Given the description of an element on the screen output the (x, y) to click on. 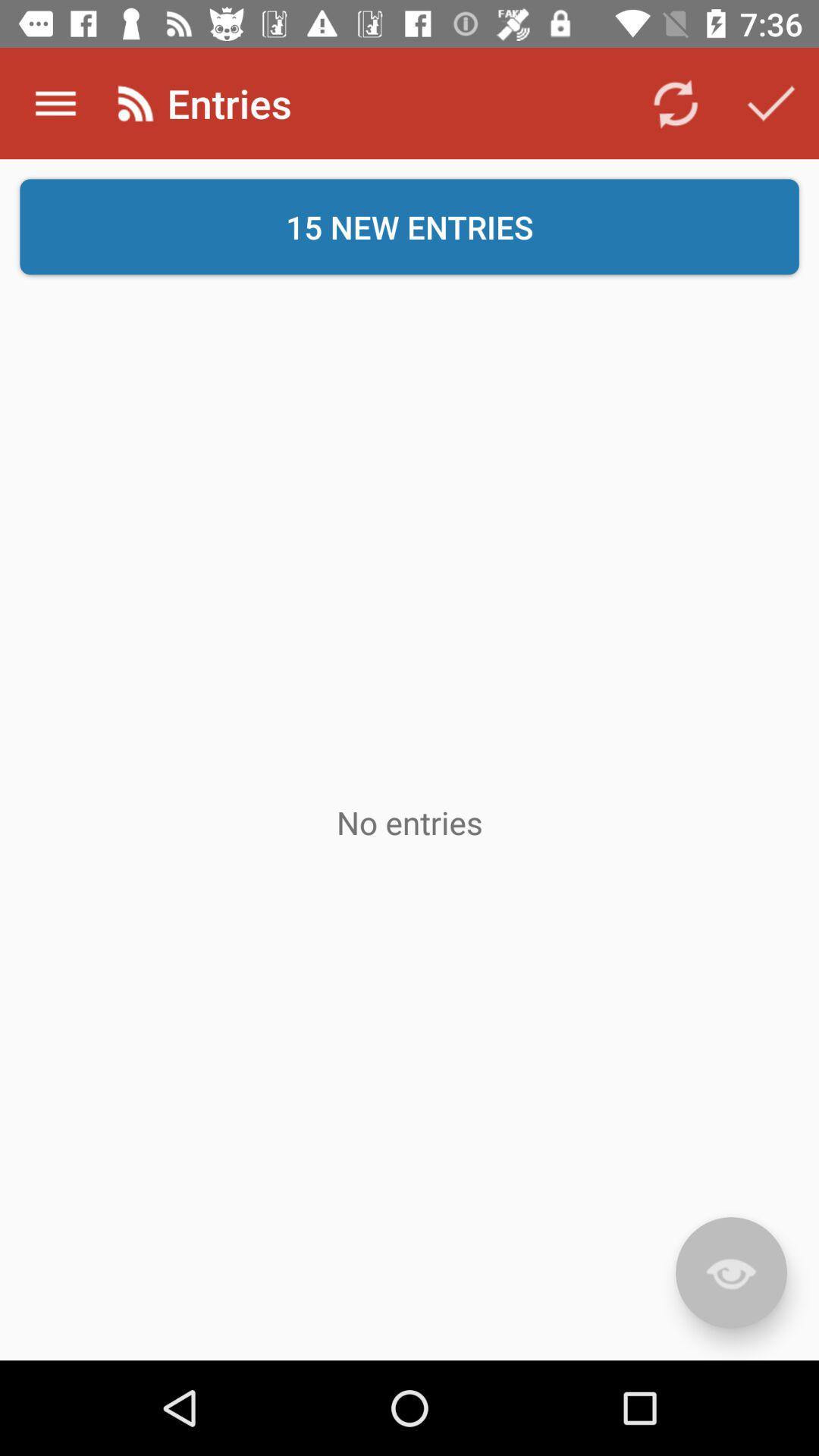
press the app next to entries (675, 103)
